Given the description of an element on the screen output the (x, y) to click on. 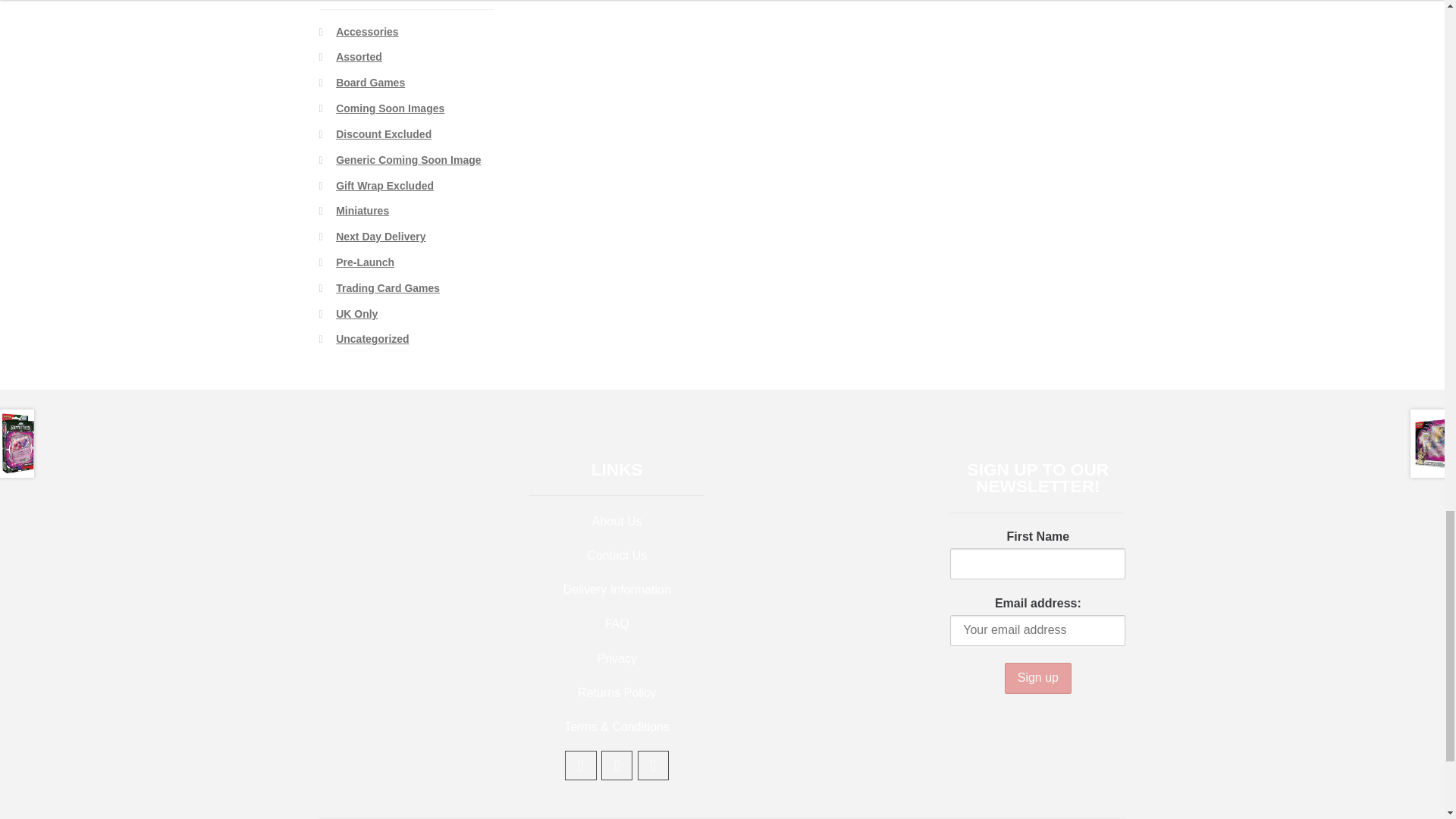
Instagram (653, 765)
Sign up (1037, 677)
Youtube (580, 765)
Twitter (617, 765)
